Given the description of an element on the screen output the (x, y) to click on. 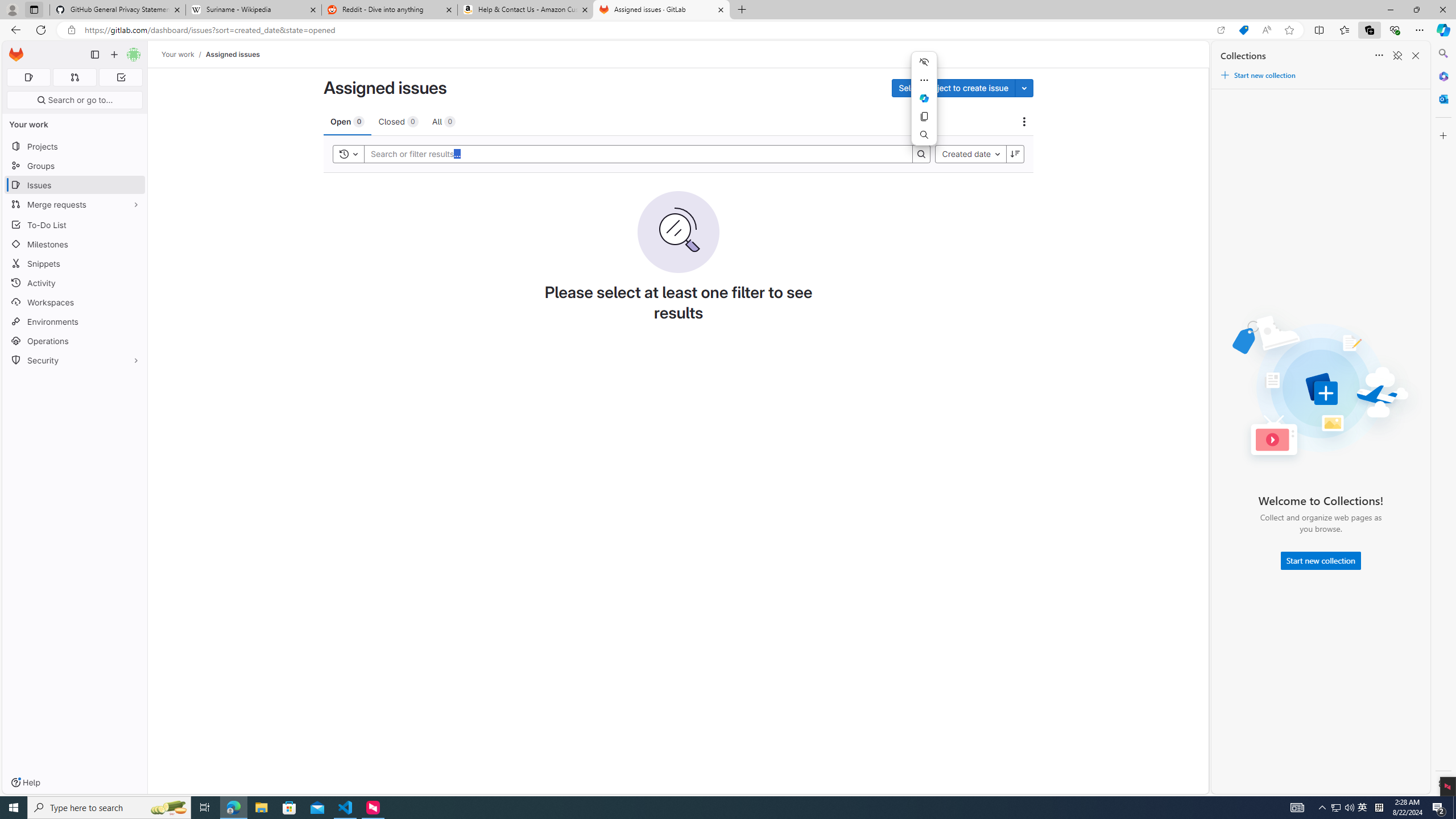
GitHub General Privacy Statement - GitHub Docs (117, 9)
Primary navigation sidebar (94, 54)
Security (74, 359)
Issues (74, 185)
Activity (74, 282)
Toggle history (348, 153)
Create new... (113, 54)
Copy (923, 116)
